Given the description of an element on the screen output the (x, y) to click on. 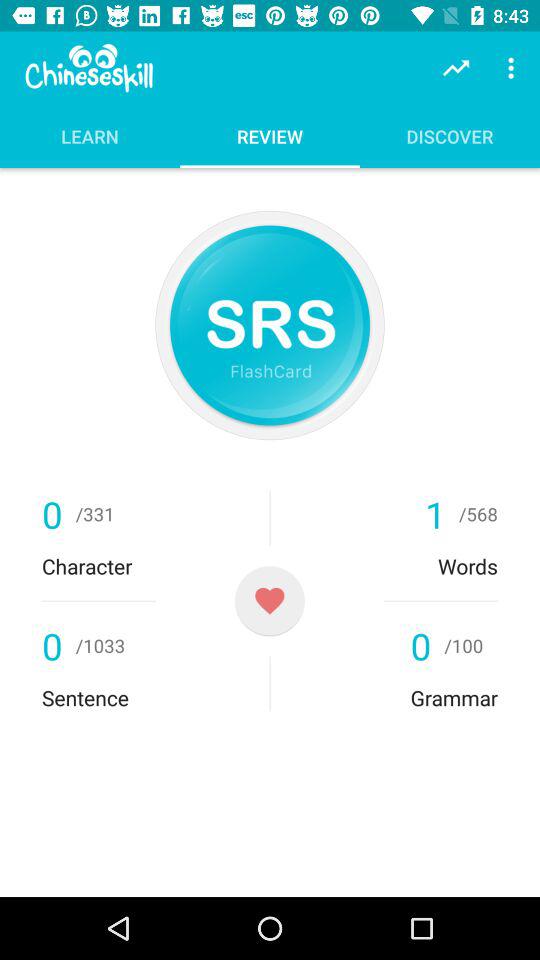
select repeat system (270, 325)
